Given the description of an element on the screen output the (x, y) to click on. 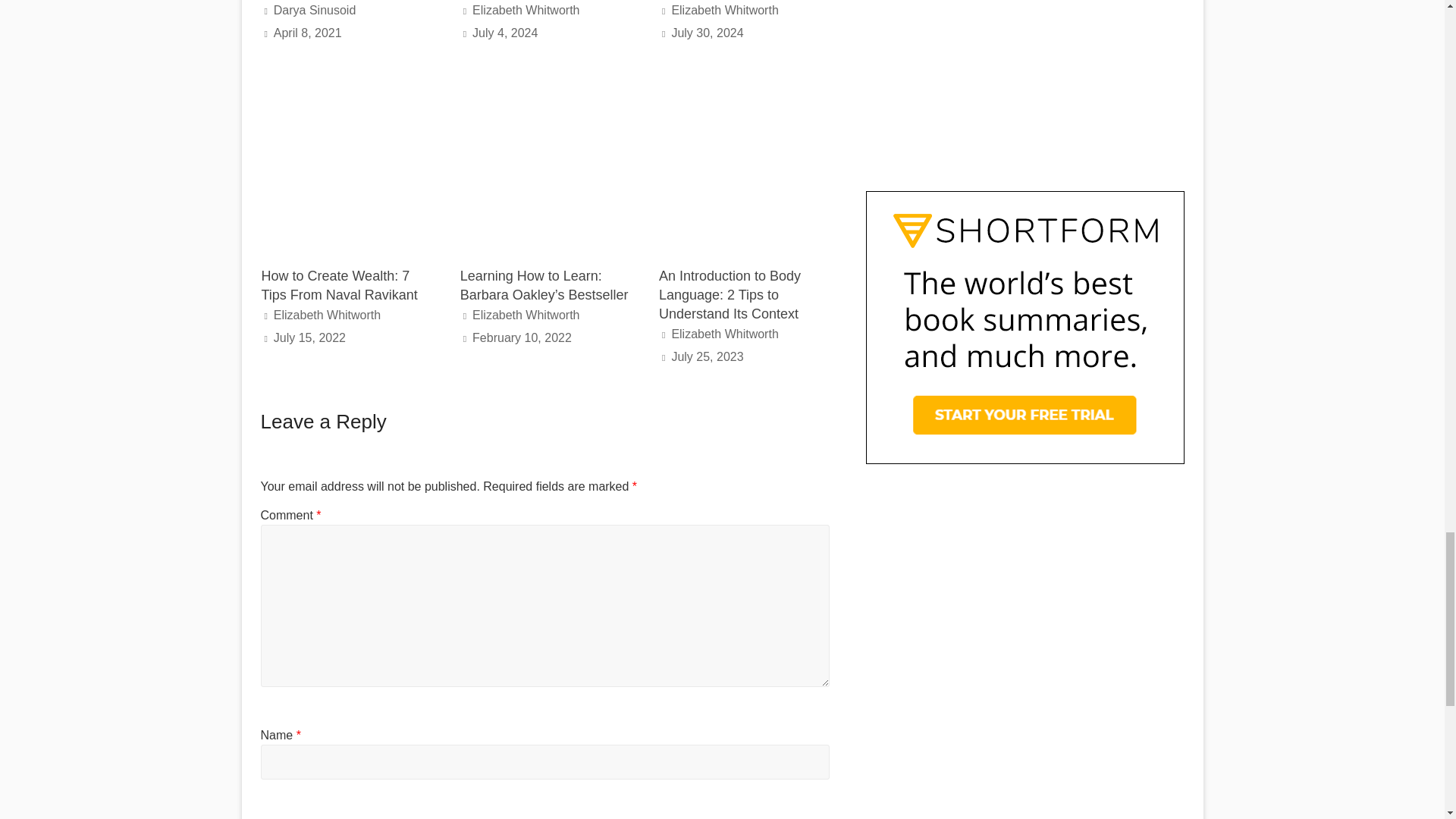
July 15, 2022 (309, 337)
How to Create Wealth: 7 Tips From Naval Ravikant (338, 285)
Elizabeth Whitworth (326, 314)
April 8, 2021 (307, 32)
Elizabeth Whitworth (525, 10)
How to Create Wealth: 7 Tips From Naval Ravikant (345, 90)
July 30, 2024 (706, 32)
Elizabeth Whitworth (724, 10)
July 4, 2024 (504, 32)
Darya Sinusoid (314, 10)
